Given the description of an element on the screen output the (x, y) to click on. 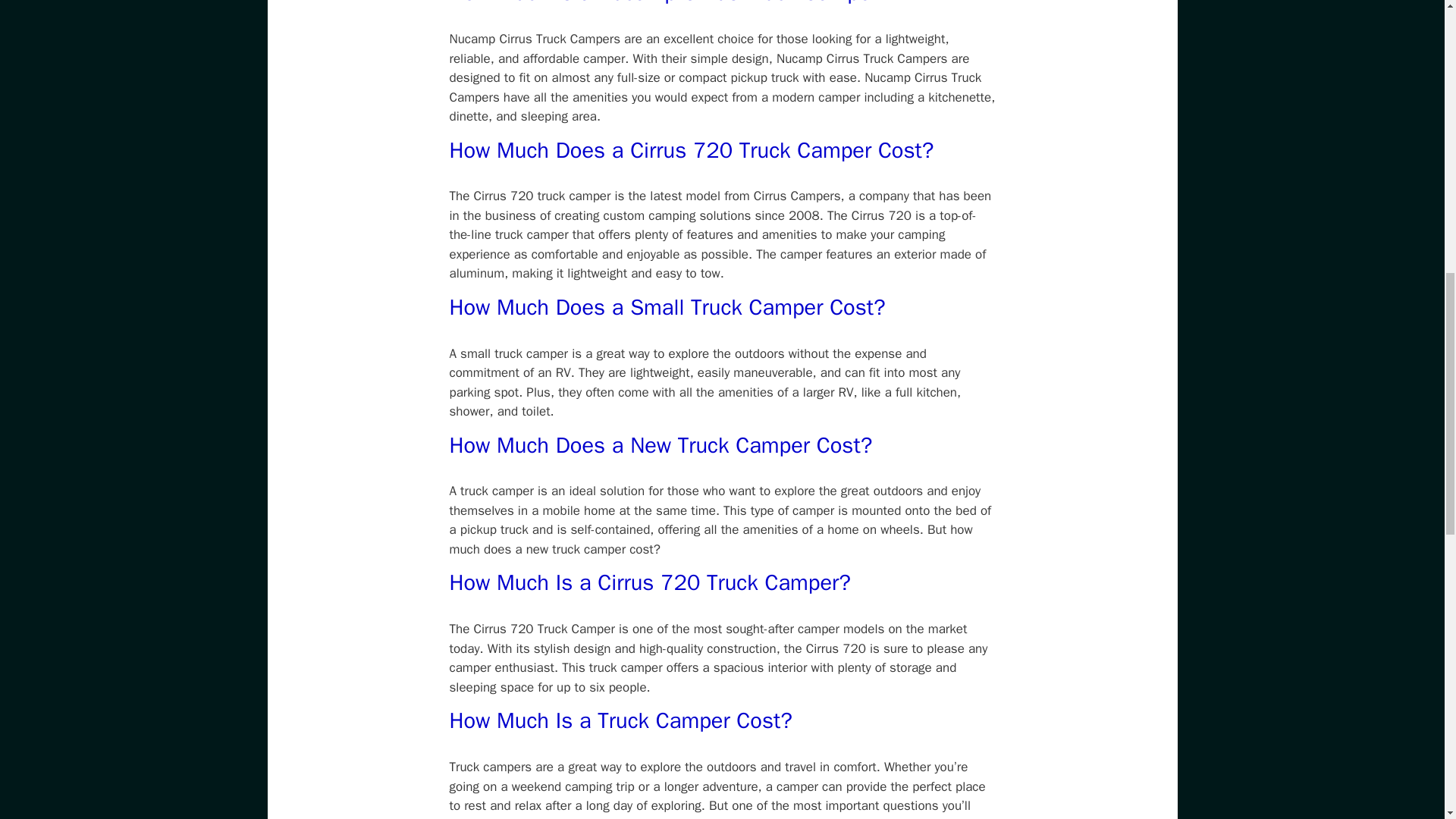
How Much Is a Truck Camper Cost? (620, 720)
How Much Is a Nucamp Cirrus Truck Camper? (668, 3)
How Much Does a Small Truck Camper Cost? (666, 307)
How Much Does a Cirrus 720 Truck Camper Cost? (690, 150)
How Much Does a New Truck Camper Cost? (660, 445)
How Much Is a Cirrus 720 Truck Camper? (649, 582)
